Given the description of an element on the screen output the (x, y) to click on. 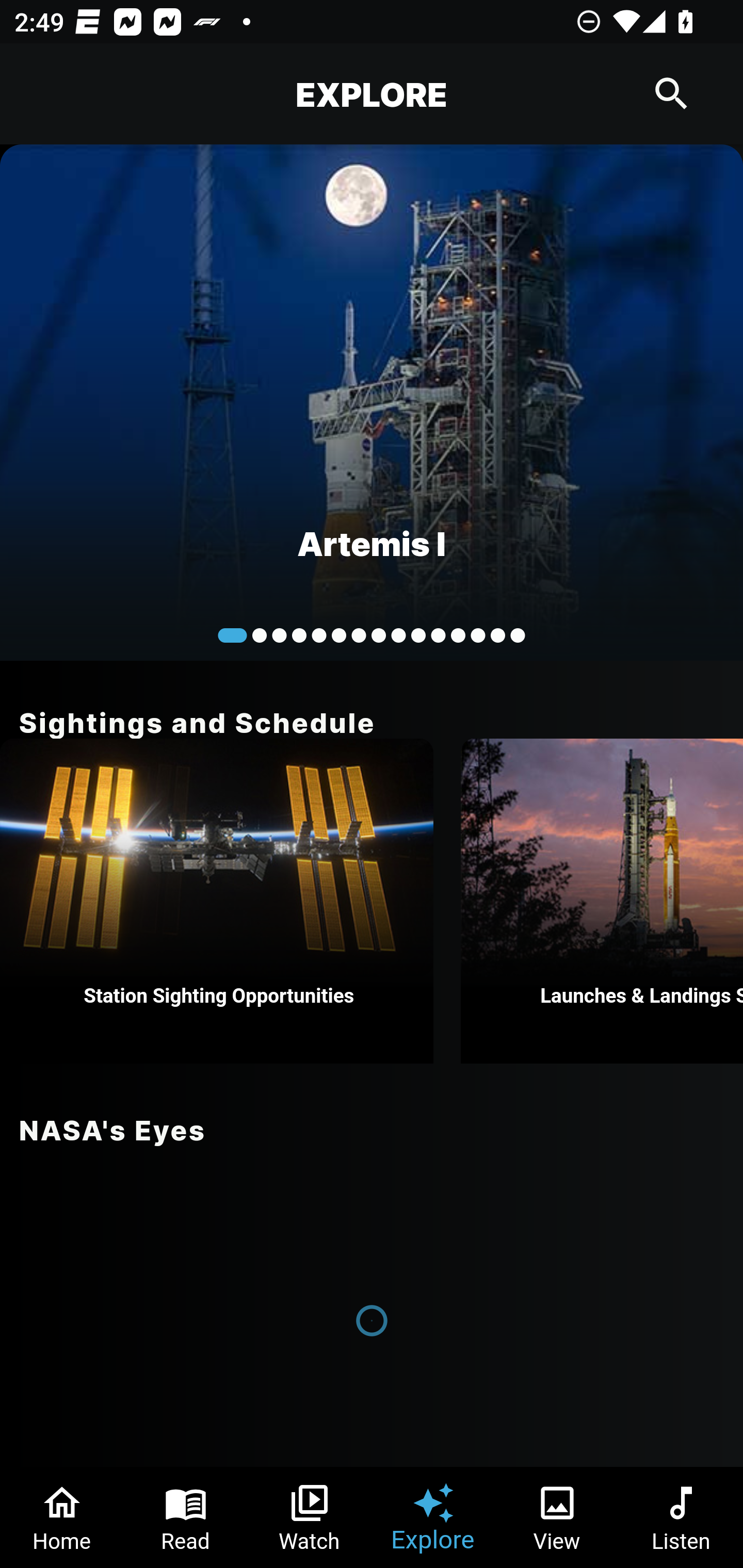
Artemis I
Hello World (371, 402)
Station Sighting Opportunities (216, 900)
Launches & Landings Schedule (601, 900)
Home
Tab 1 of 6 (62, 1517)
Read
Tab 2 of 6 (185, 1517)
Watch
Tab 3 of 6 (309, 1517)
Explore
Tab 4 of 6 (433, 1517)
View
Tab 5 of 6 (556, 1517)
Listen
Tab 6 of 6 (680, 1517)
